Given the description of an element on the screen output the (x, y) to click on. 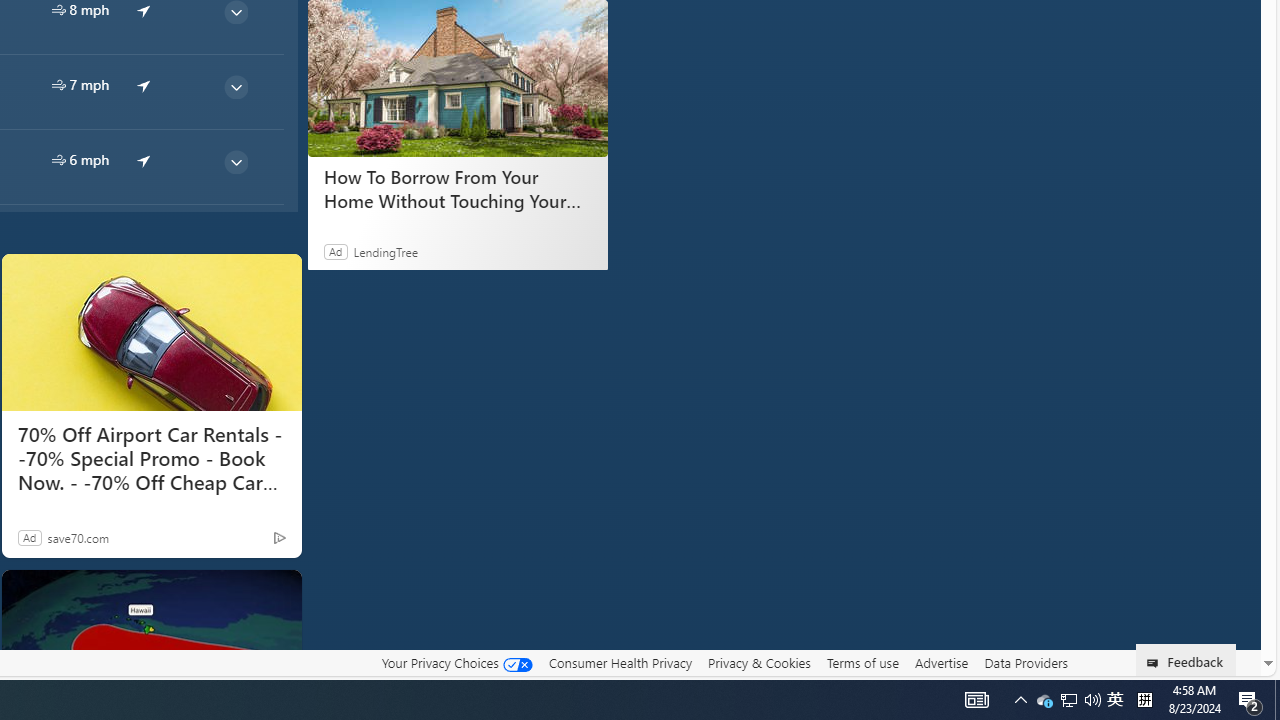
Terms of use (861, 662)
Privacy & Cookies (759, 663)
Privacy & Cookies (759, 662)
